Given the description of an element on the screen output the (x, y) to click on. 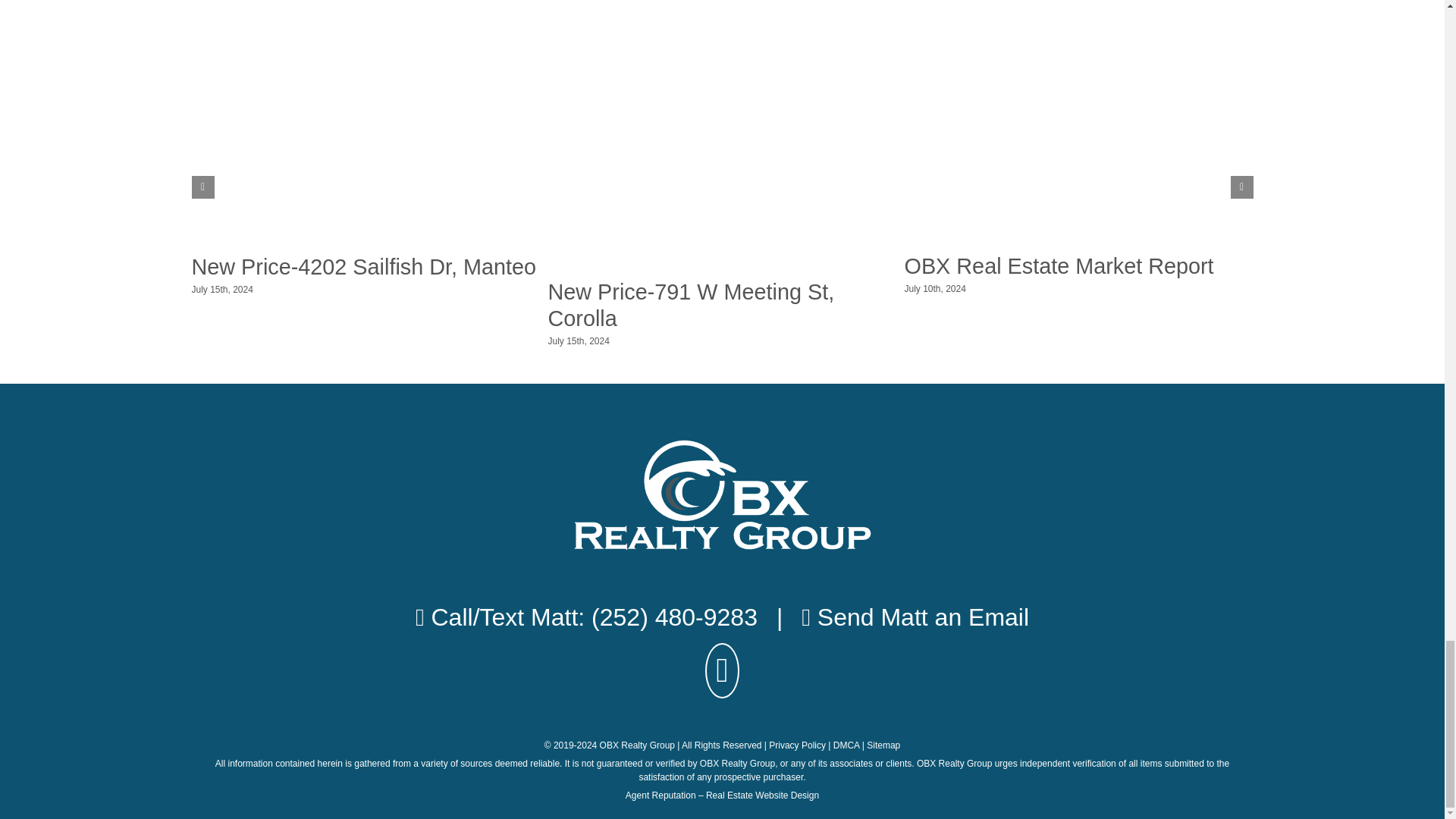
New Price-4202 Sailfish Dr, Manteo (362, 266)
OBX Real Estate Market Report (1058, 265)
New Price-791 W Meeting St, Corolla (690, 305)
